Given the description of an element on the screen output the (x, y) to click on. 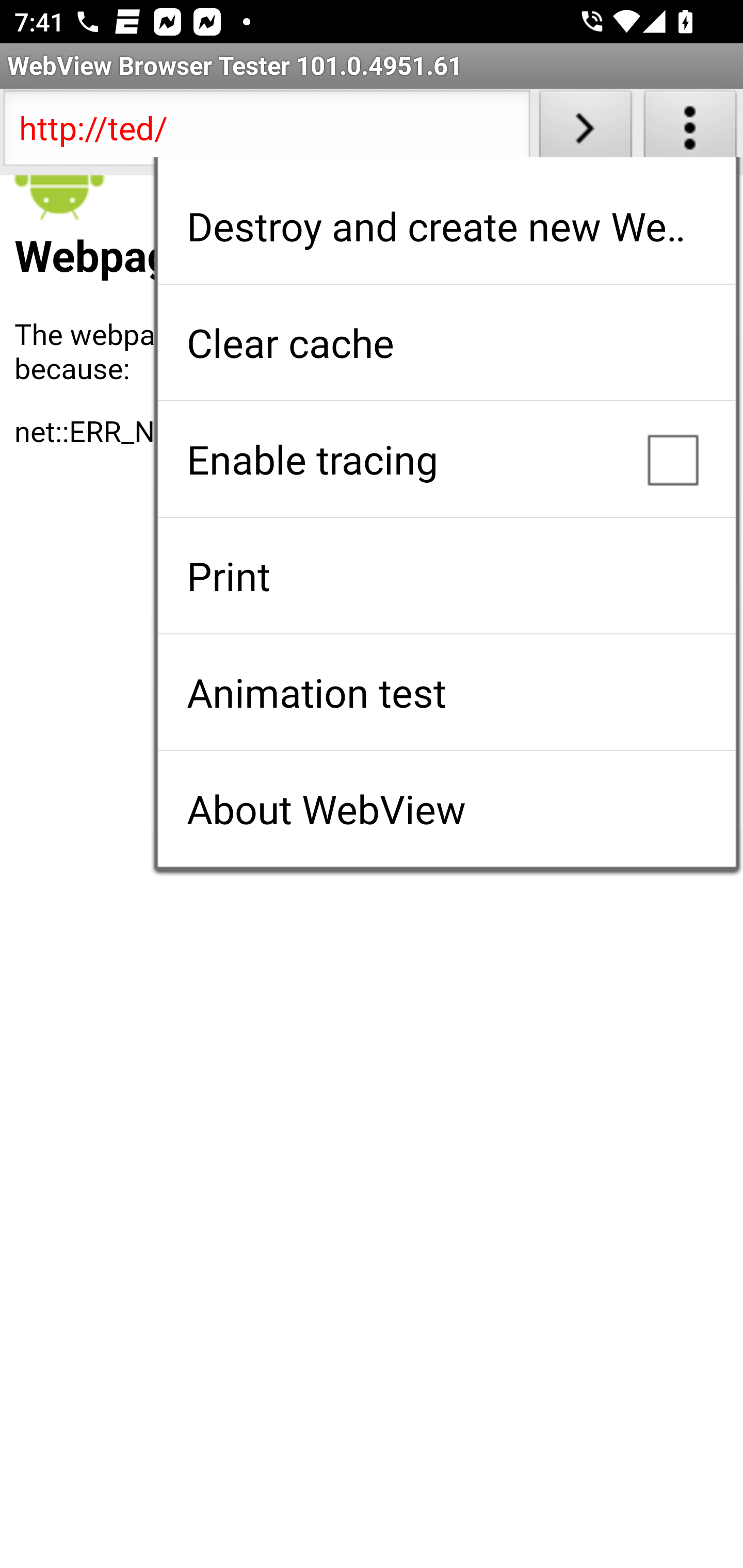
Destroy and create new WebView (446, 225)
Clear cache (446, 342)
Enable tracing (446, 459)
Print (446, 575)
Animation test (446, 692)
About WebView (446, 809)
